Given the description of an element on the screen output the (x, y) to click on. 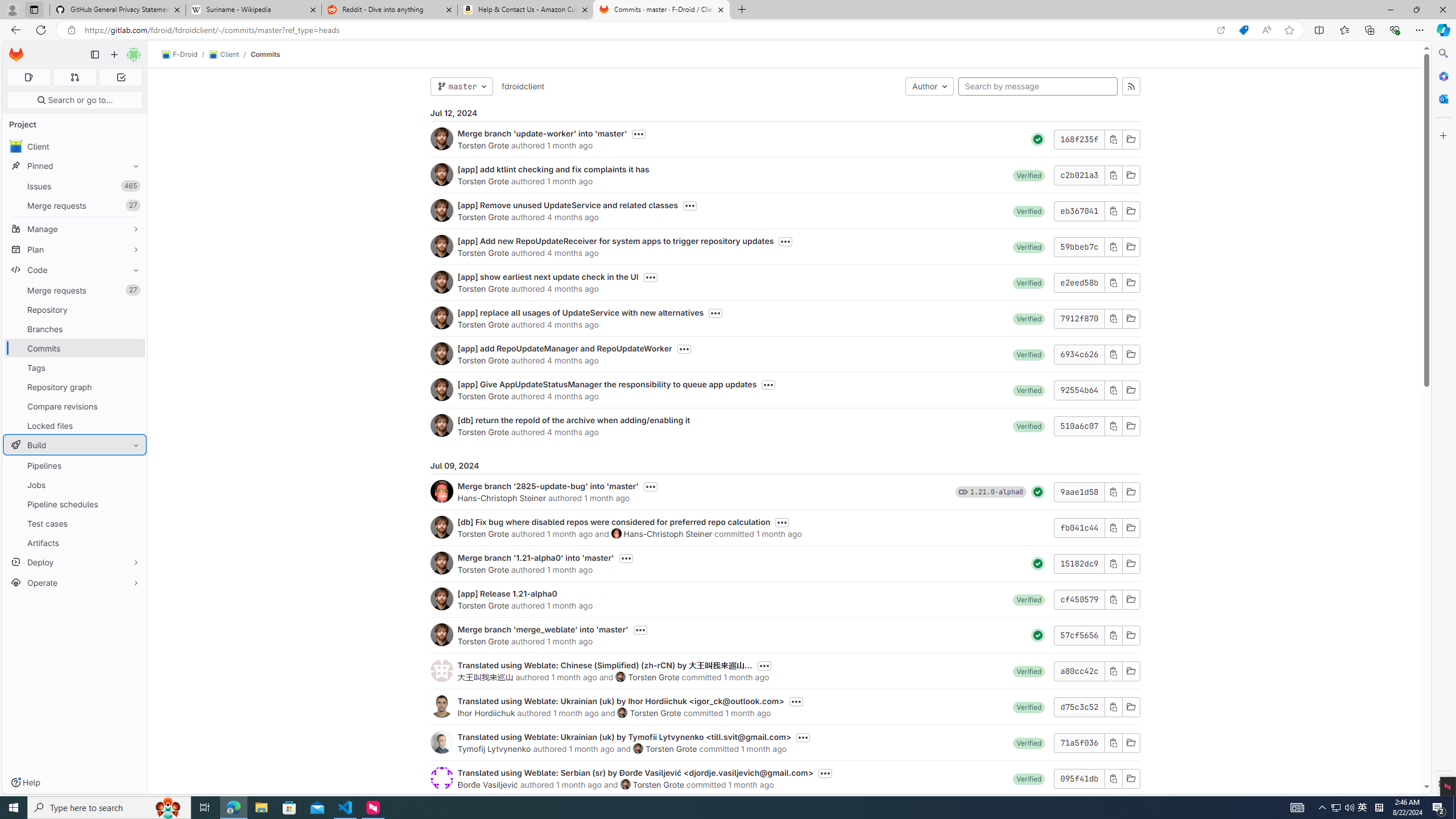
Pin Artifacts (132, 542)
Pin Locked files (132, 425)
Class: s16 (1130, 777)
Class: s24 gl-icon (1037, 635)
Jul 09, 2024 (784, 465)
Commits (265, 53)
Locked files (74, 425)
Test cases (74, 523)
Operate (74, 582)
Pin Branches (132, 328)
Jul 12, 2024 (784, 113)
